Given the description of an element on the screen output the (x, y) to click on. 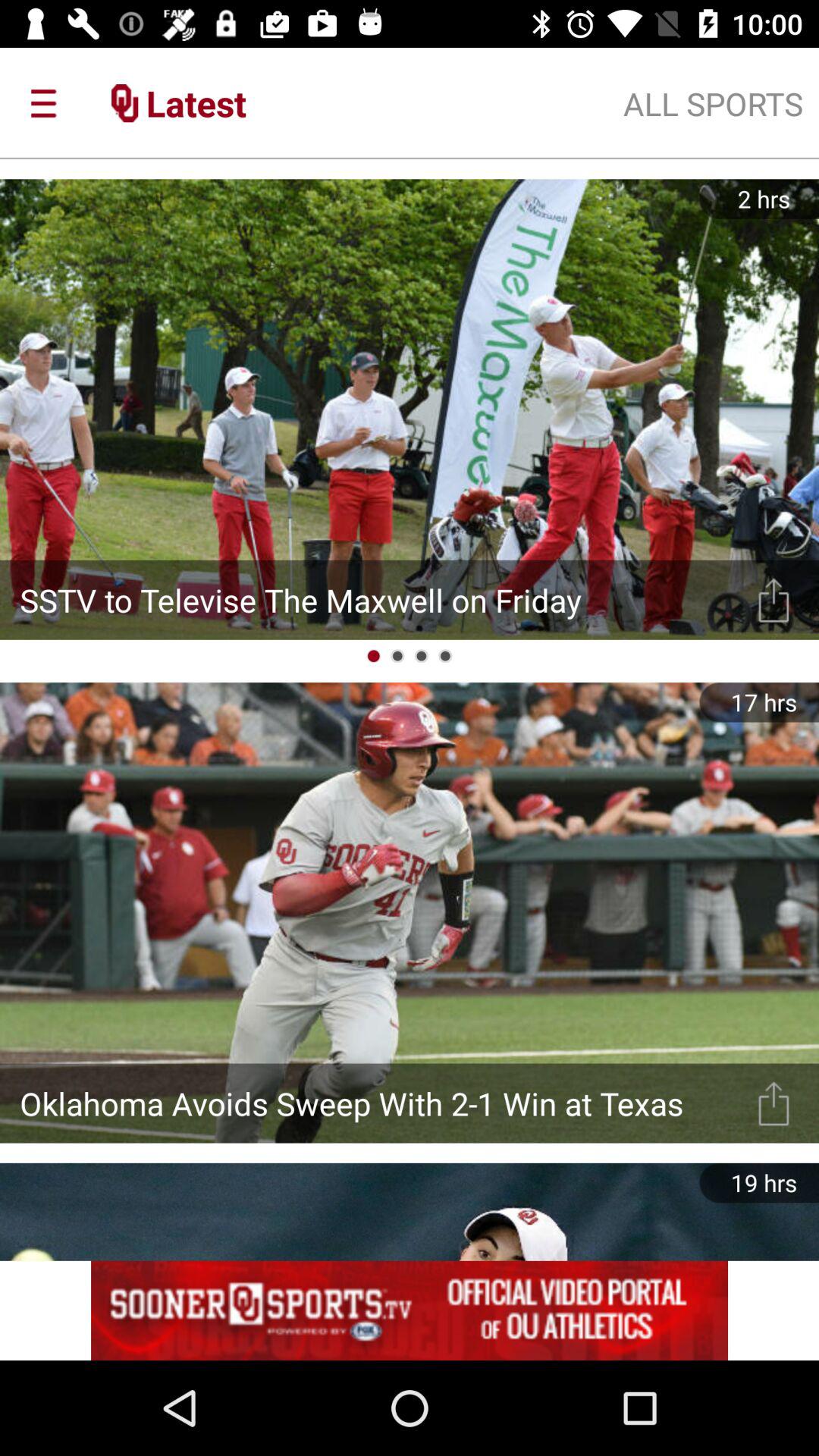
click on the button right next to sstv to televise the maxwell on friday (773, 600)
click on the icon which is above 19 hrs (773, 1103)
